Given the description of an element on the screen output the (x, y) to click on. 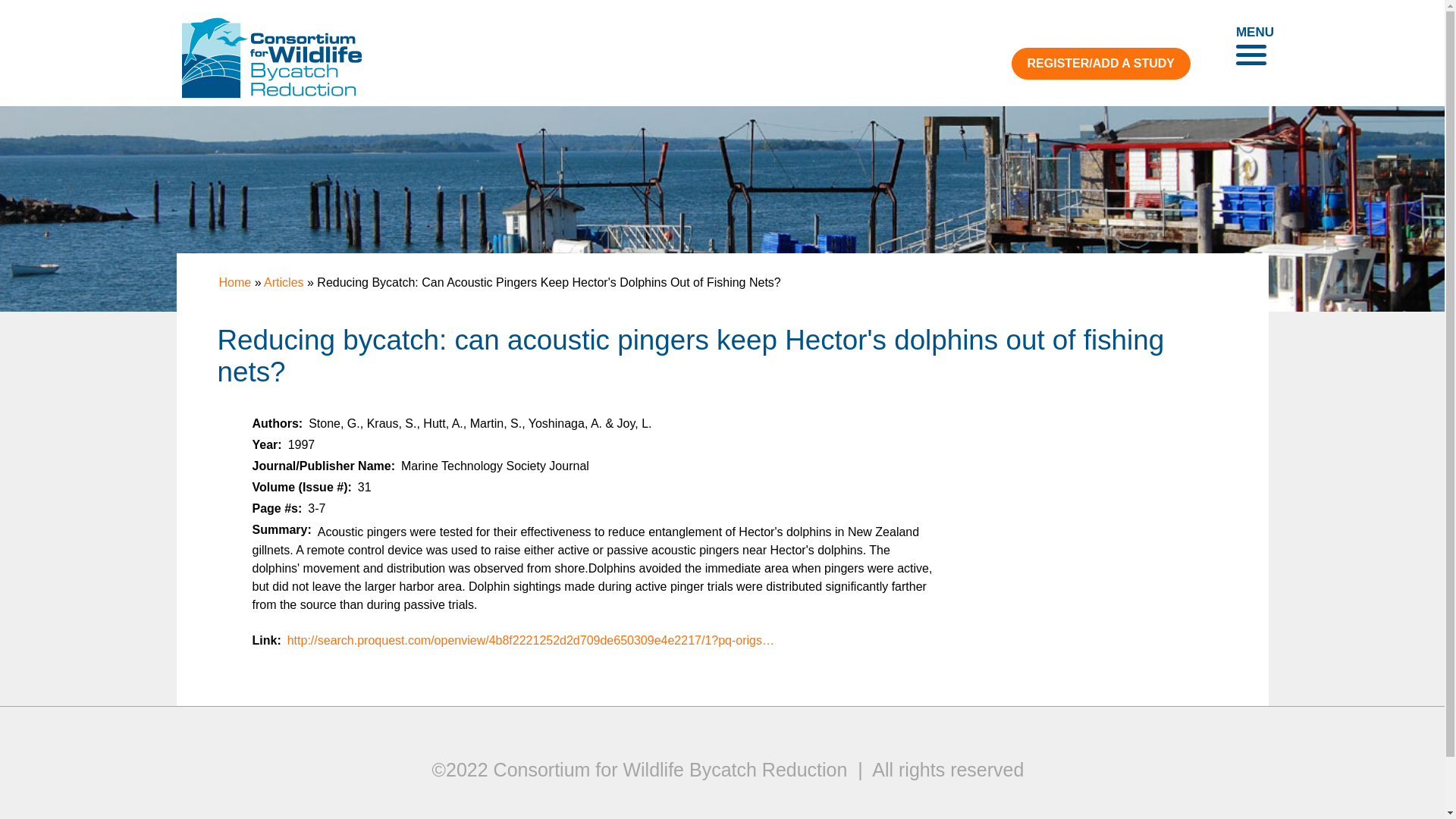
Instructions for Adding an Article Study (1101, 63)
MENU (1251, 47)
Menu (1251, 47)
